Given the description of an element on the screen output the (x, y) to click on. 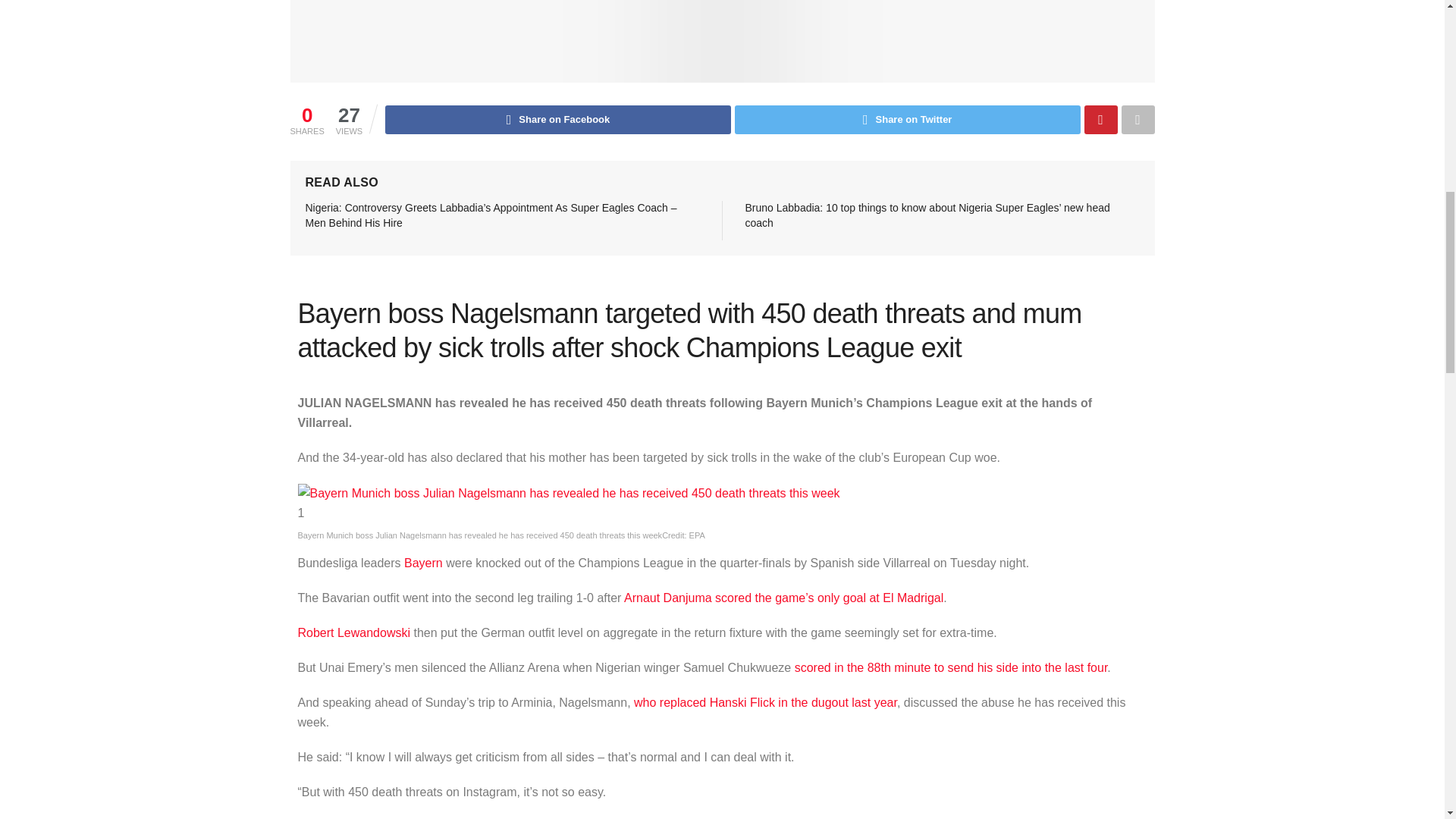
Share on Facebook (557, 119)
Share on Twitter (907, 119)
who replaced Hanski Flick in the dugout last year (764, 702)
Bayern (423, 562)
Robert Lewandowski (353, 632)
